Given the description of an element on the screen output the (x, y) to click on. 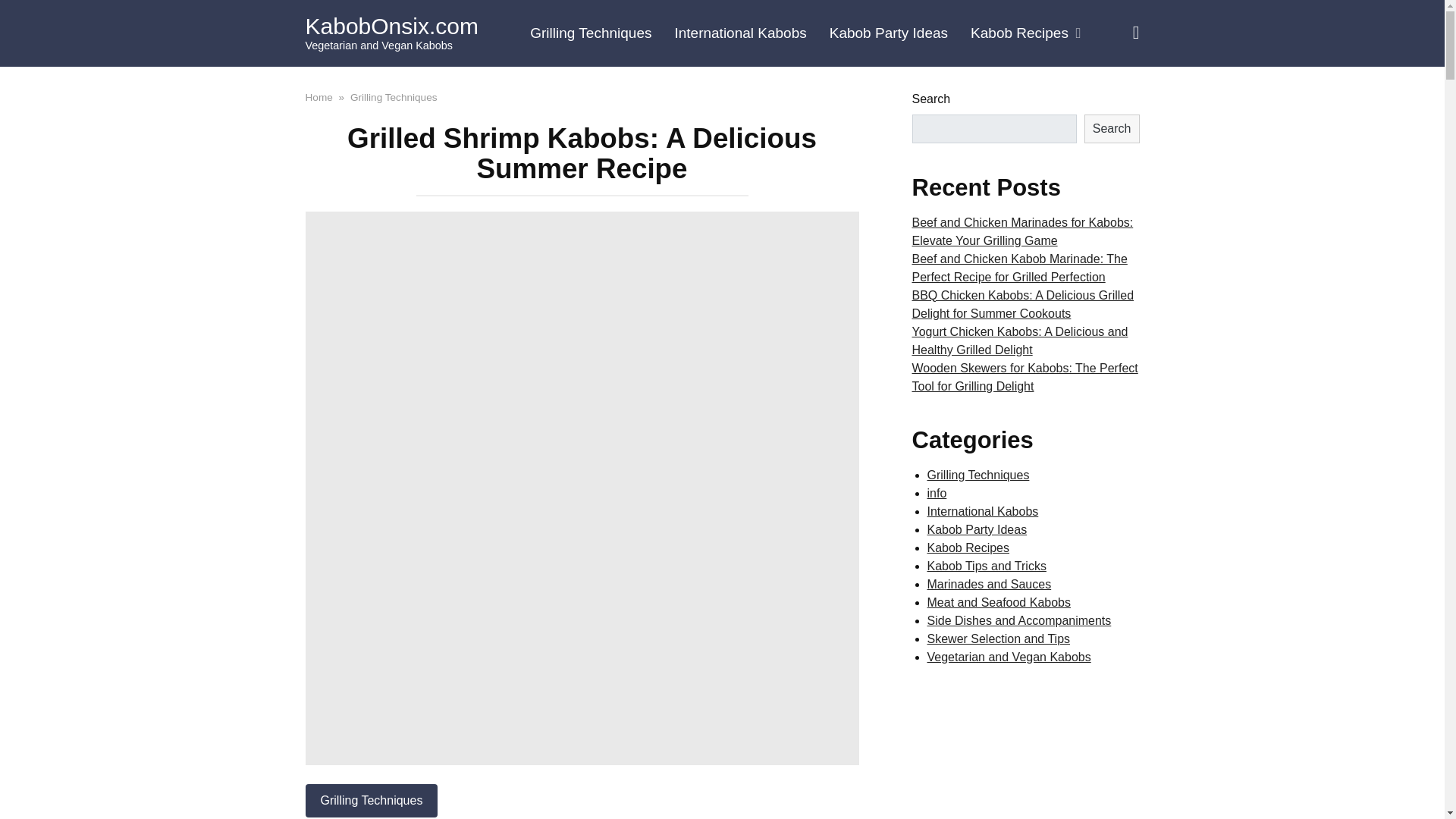
International Kabobs (739, 33)
Grilling Techniques (371, 800)
Home (317, 96)
Grilling Techniques (590, 33)
KabobOnsix.com (390, 25)
Kabob Recipes (1025, 33)
Grilling Techniques (394, 96)
Kabob Party Ideas (888, 33)
